Given the description of an element on the screen output the (x, y) to click on. 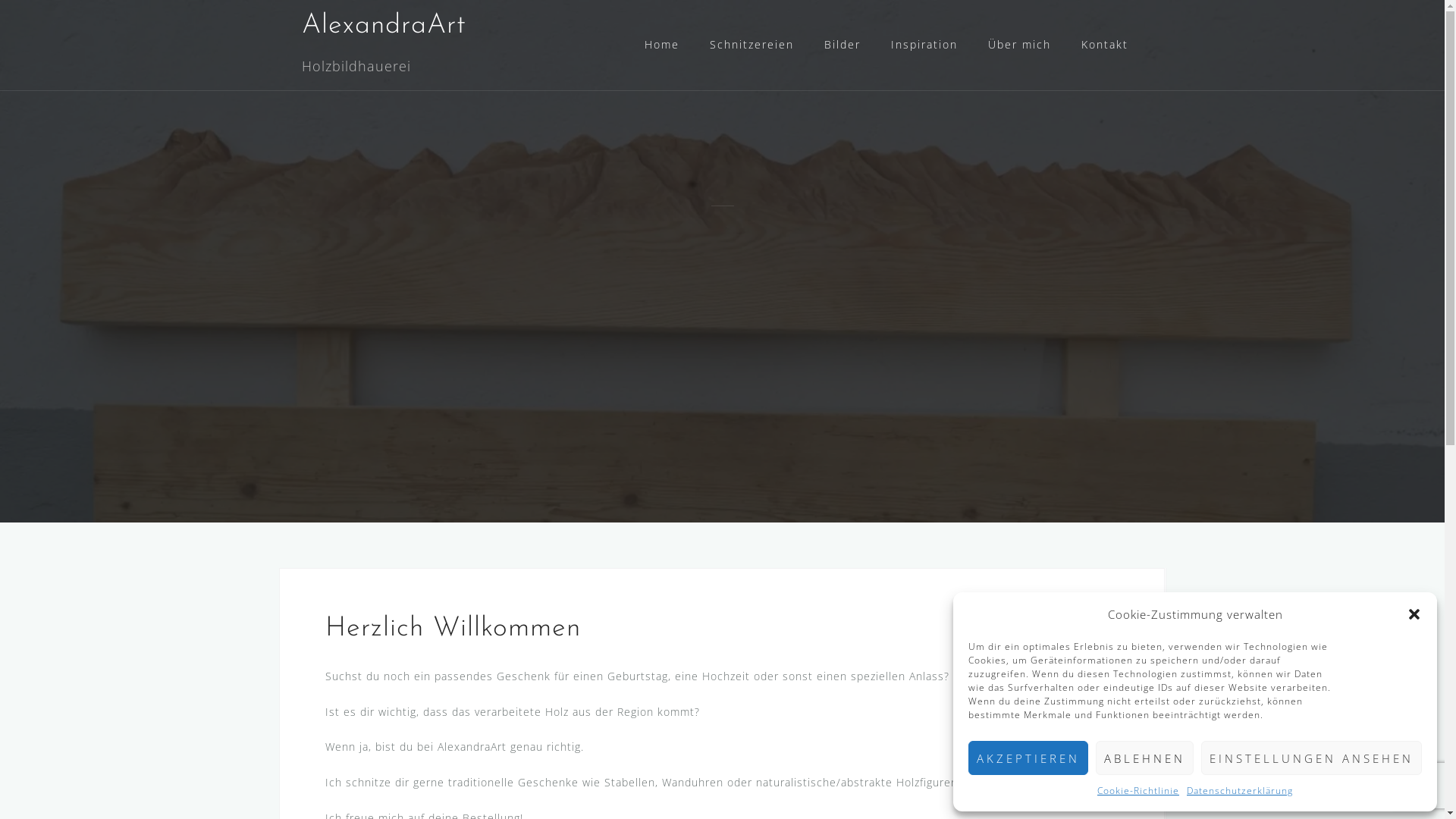
Schnitzereien Element type: text (751, 44)
Bilder Element type: text (841, 44)
Home Element type: text (661, 44)
AKZEPTIEREN Element type: text (1028, 757)
ABLEHNEN Element type: text (1144, 757)
Kontakt Element type: text (1104, 44)
EINSTELLUNGEN ANSEHEN Element type: text (1311, 757)
Cookie-Richtlinie Element type: text (1138, 791)
AlexandraArt Element type: text (383, 25)
Inspiration Element type: text (923, 44)
